Given the description of an element on the screen output the (x, y) to click on. 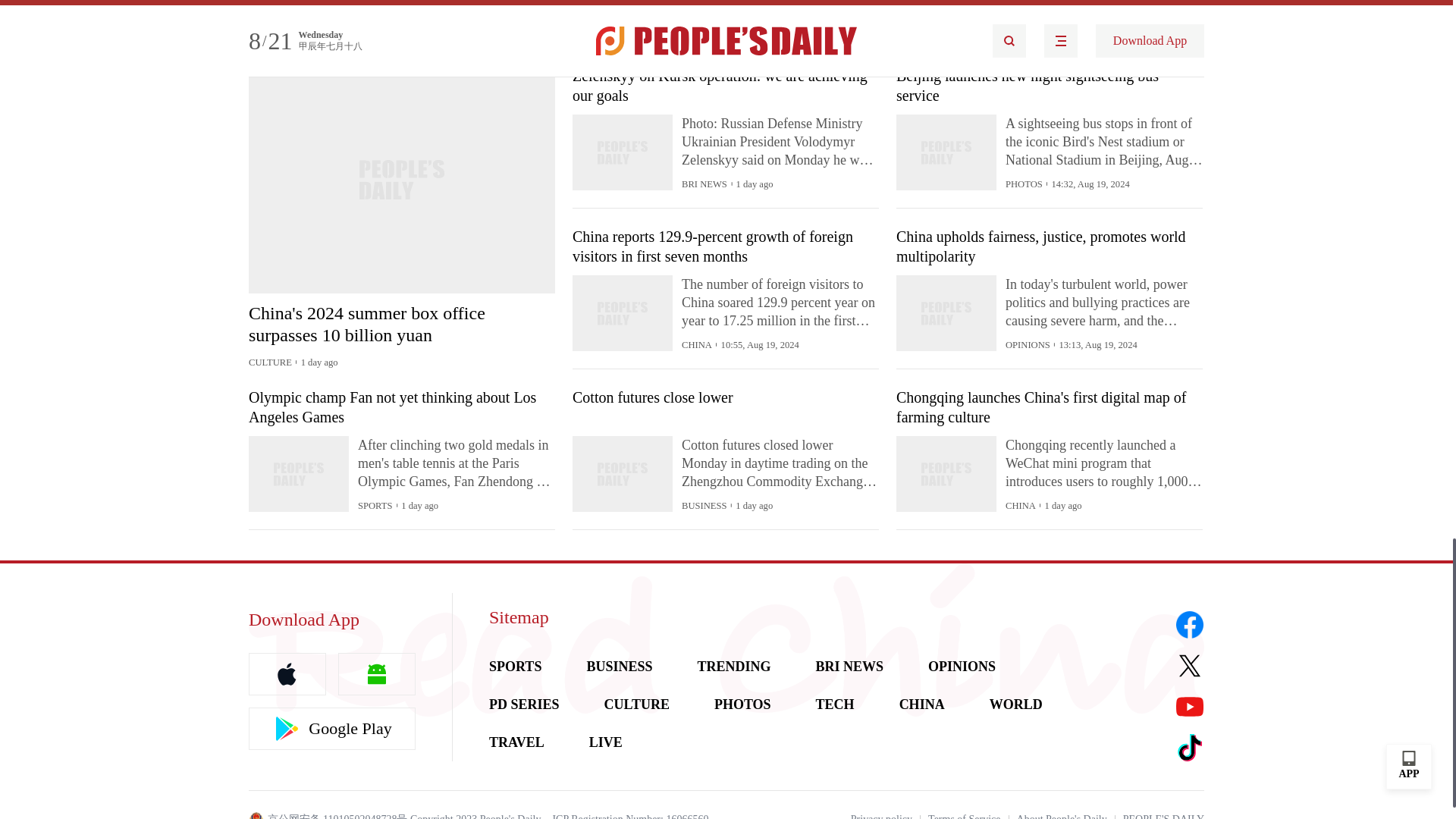
Privacy policy (881, 816)
PEOPLE'S DAILY (1163, 816)
ICP Registration Number: 16066560 (629, 816)
About People's Daily (1061, 816)
Google Play (331, 728)
Terms of Service (964, 816)
